Given the description of an element on the screen output the (x, y) to click on. 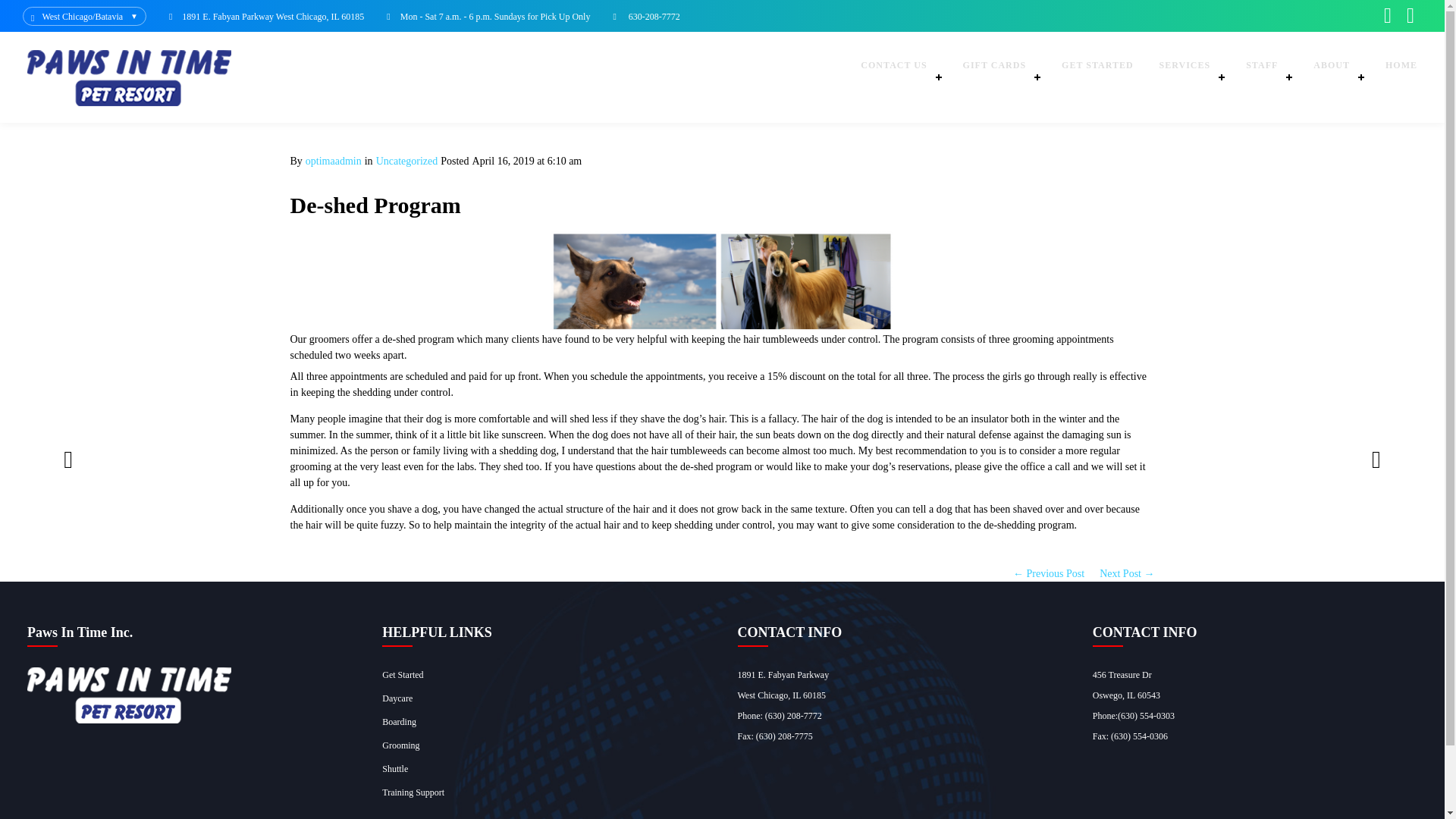
optimaadmin (333, 161)
CONTACT US (898, 77)
De-shed Program (374, 205)
STAFF (1266, 77)
Posts by optimaadmin (333, 161)
ABOUT (1336, 77)
De-shed Program (374, 205)
Uncategorized (406, 161)
HOME (1401, 77)
GET STARTED (1097, 77)
